Given the description of an element on the screen output the (x, y) to click on. 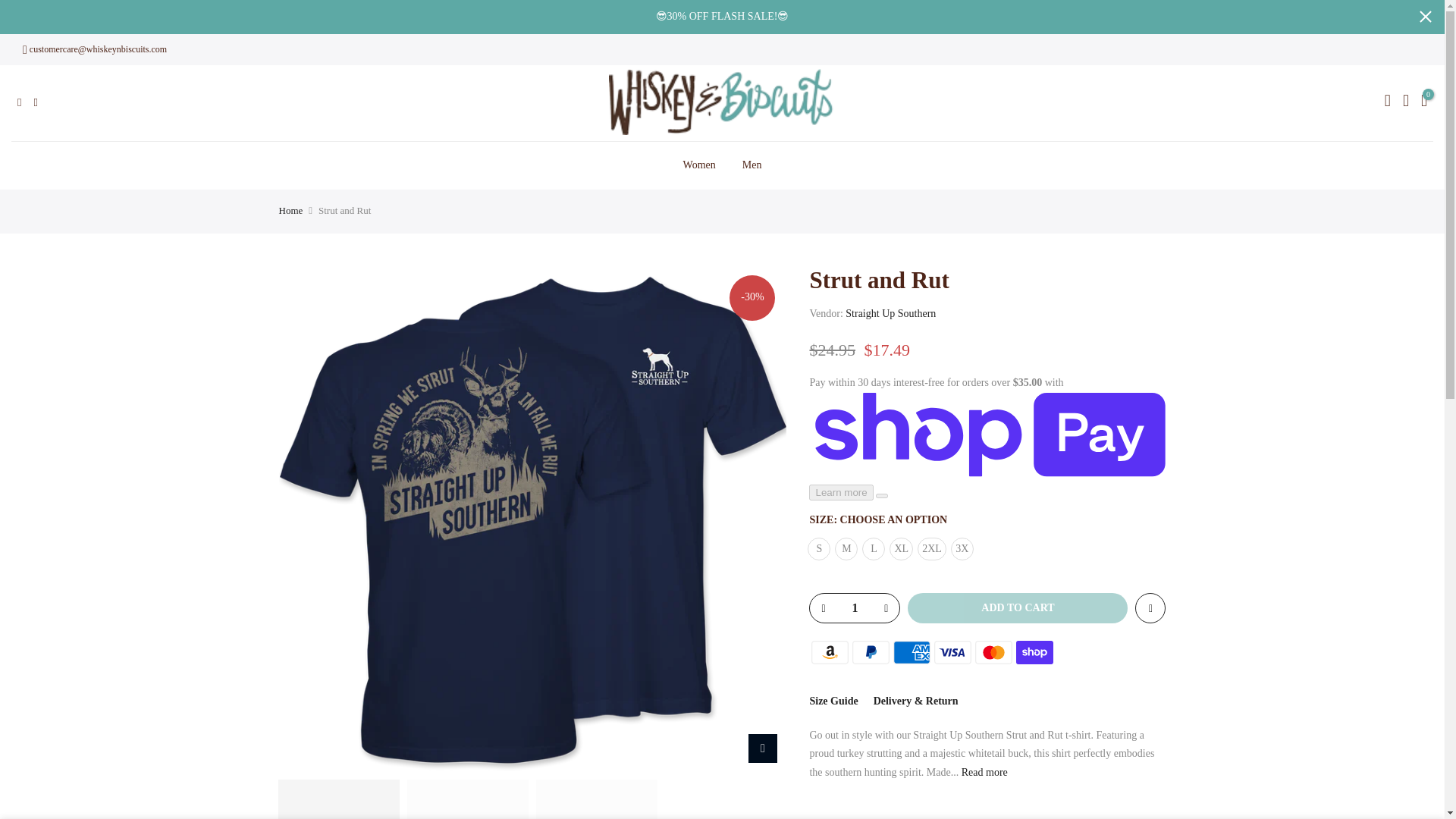
Straight Up Southern (890, 313)
Women (699, 164)
Men (751, 164)
Straight Up Southern (890, 313)
1 (854, 607)
ADD TO CART (1016, 607)
Home (290, 210)
Read more (982, 772)
Size Guide (833, 700)
